Given the description of an element on the screen output the (x, y) to click on. 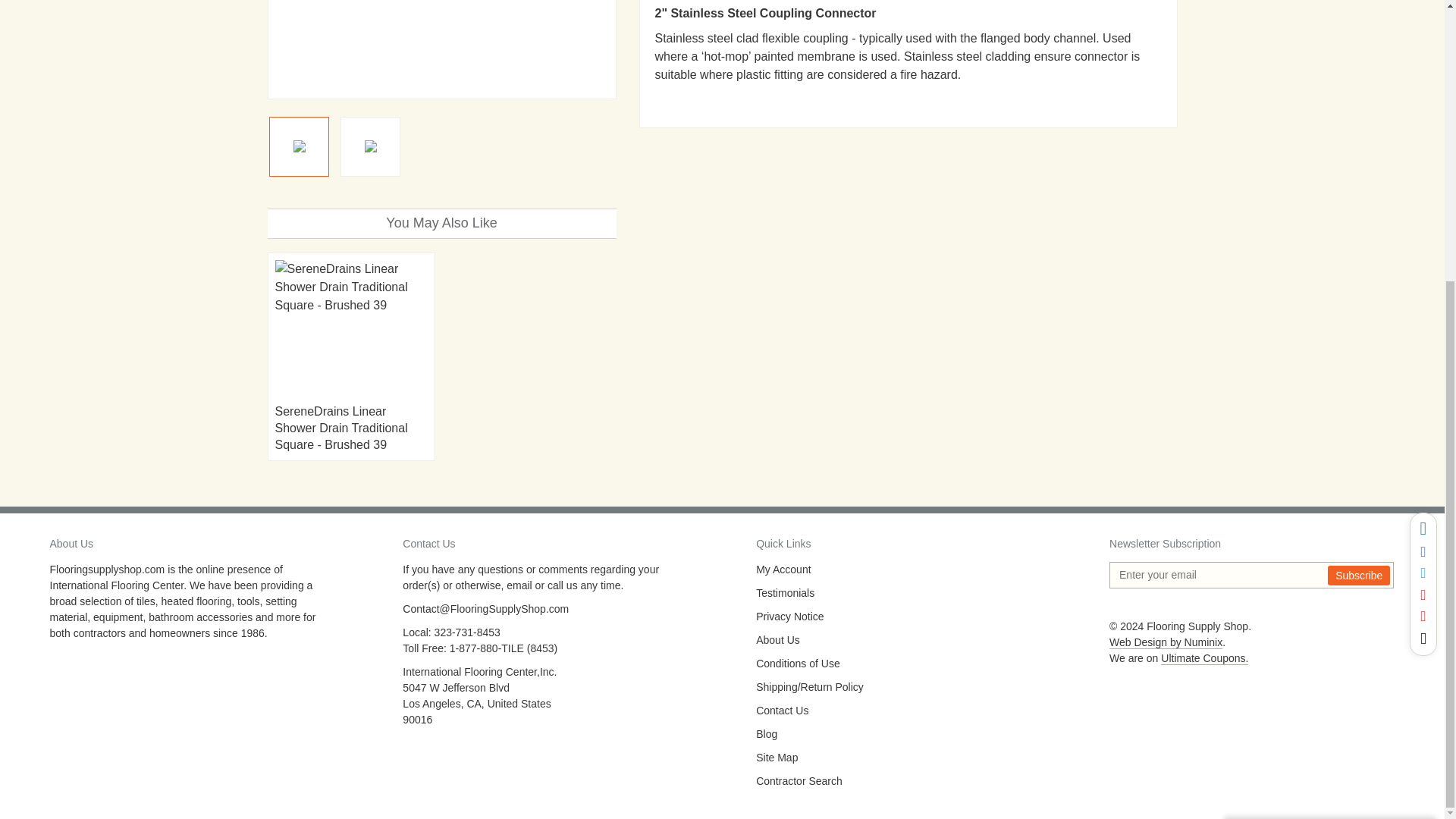
Flooring Supply Shop coupons (1203, 658)
